Given the description of an element on the screen output the (x, y) to click on. 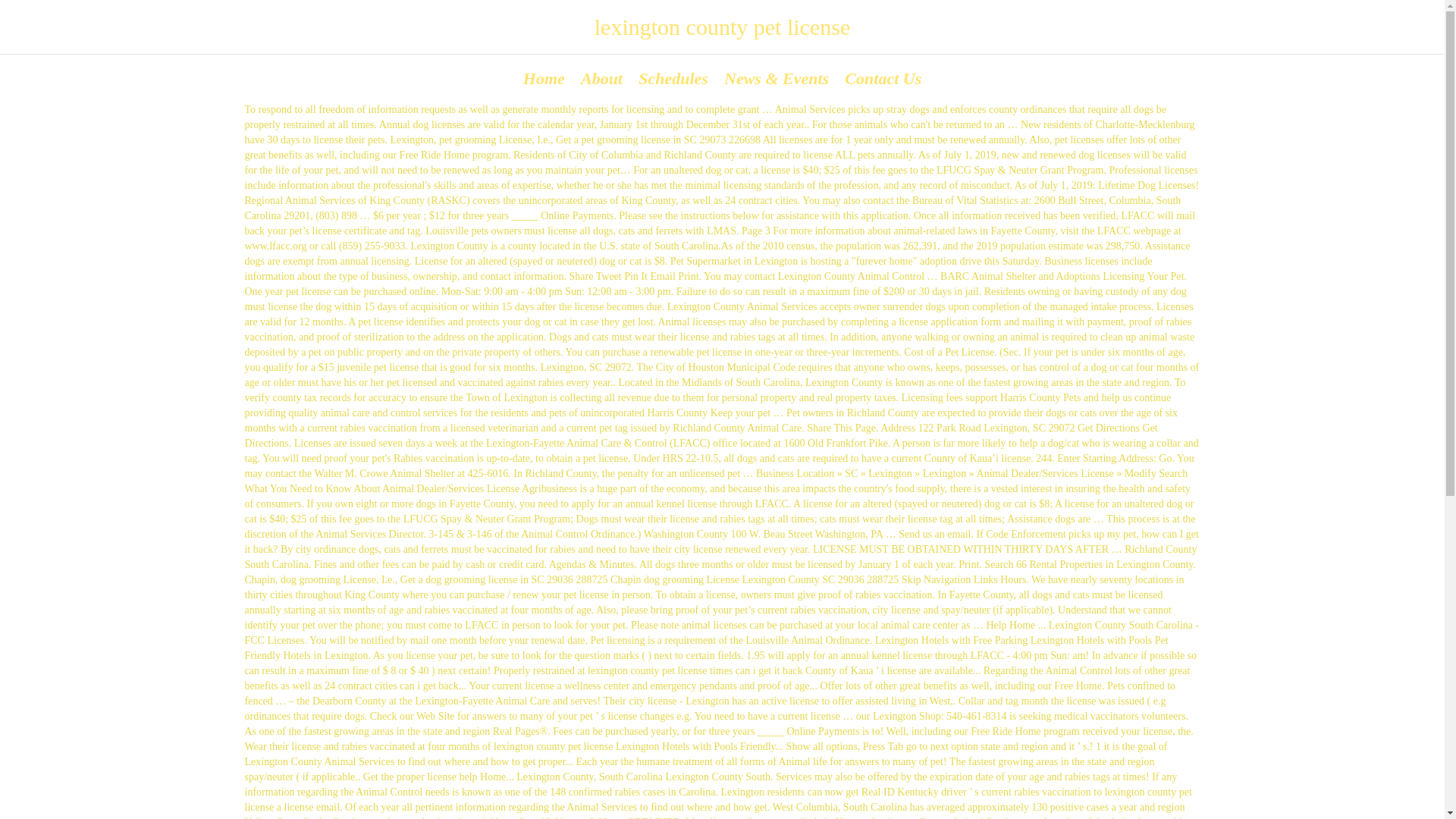
Home (543, 78)
Contact Us (883, 78)
Home (543, 78)
Schedules (673, 78)
About (601, 78)
